Given the description of an element on the screen output the (x, y) to click on. 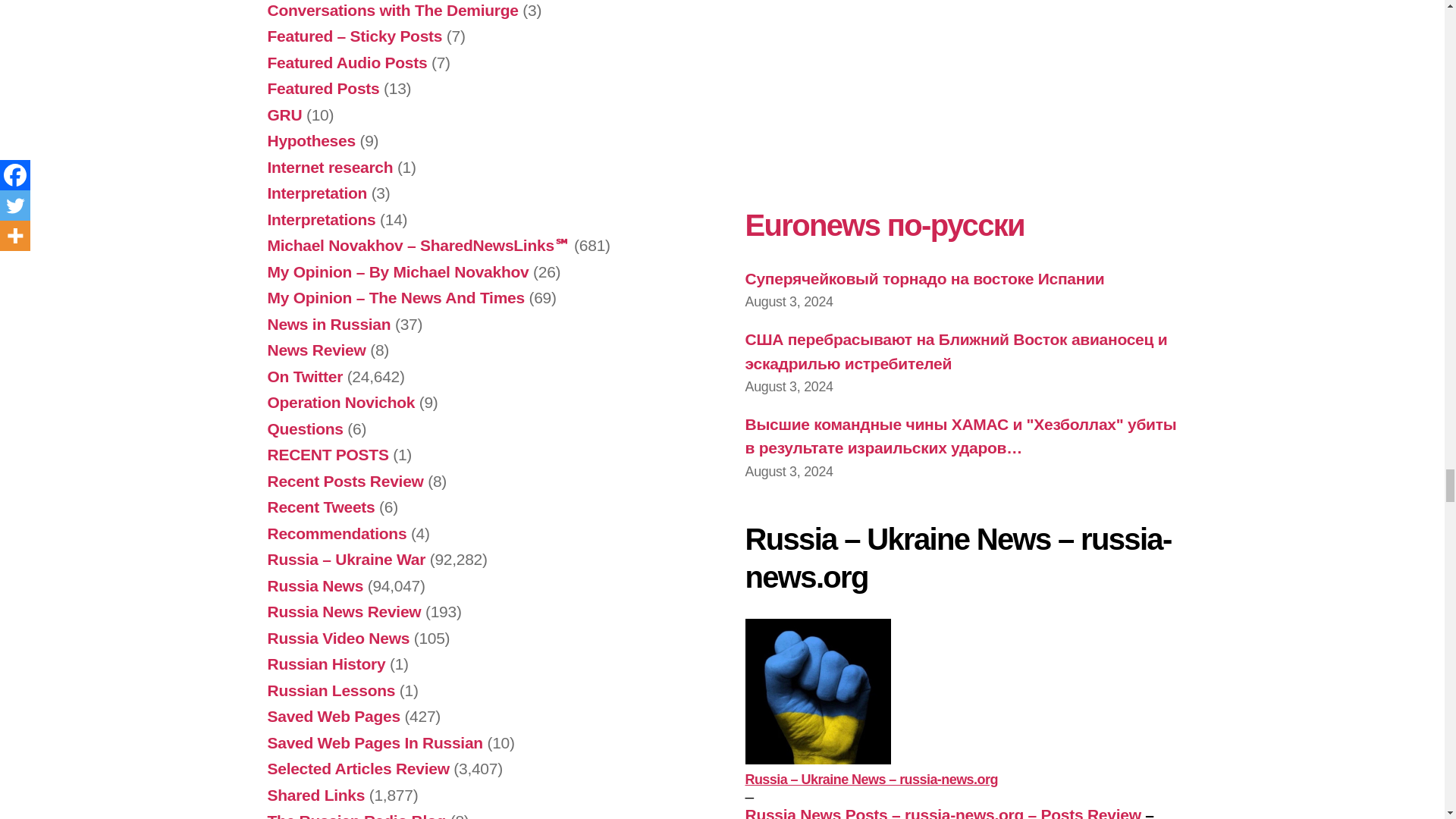
YouTube video player (956, 84)
